Given the description of an element on the screen output the (x, y) to click on. 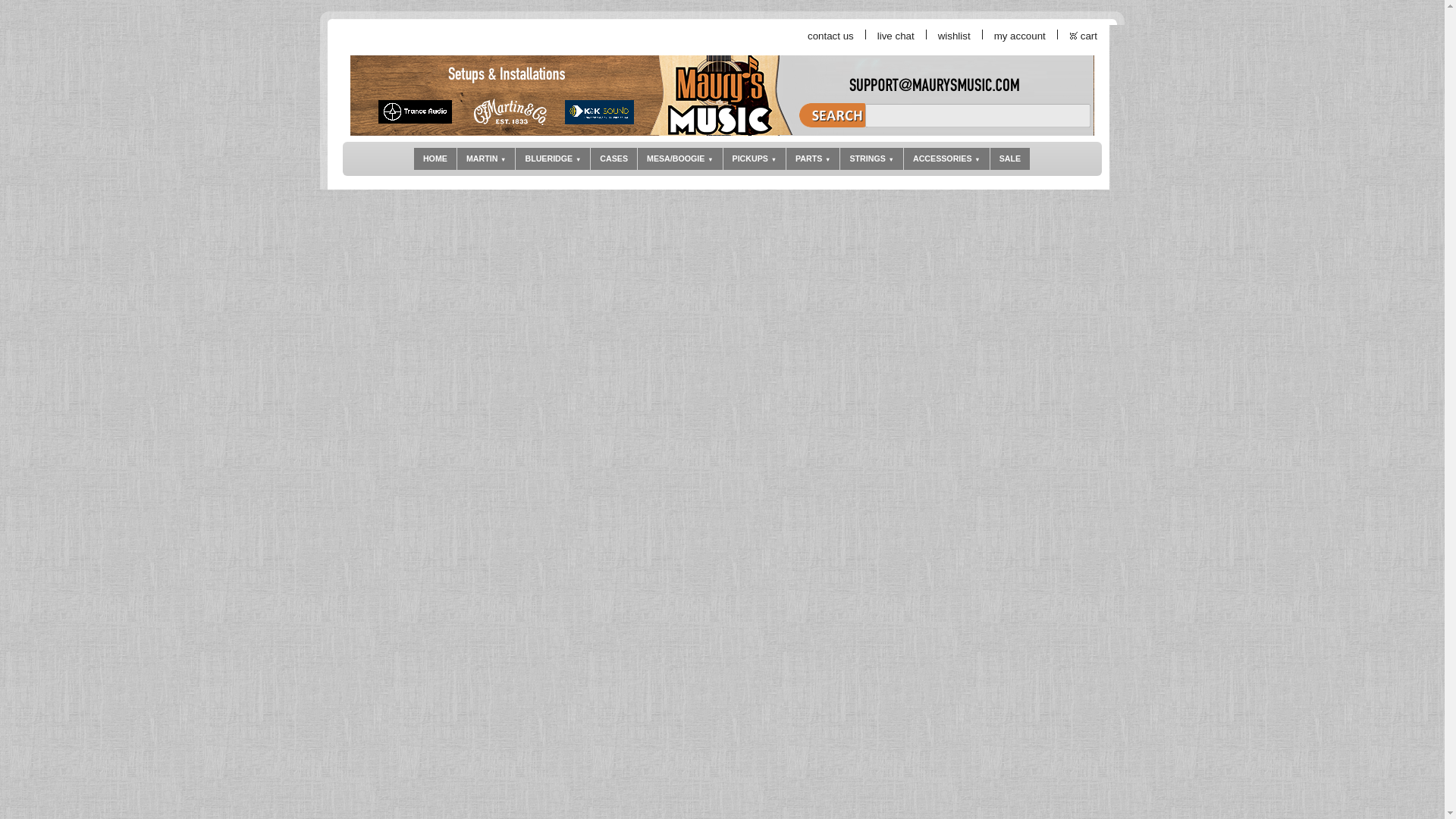
STRINGS (871, 158)
ACCESSORIES (947, 158)
HOME (435, 158)
CASES (614, 158)
live chat (896, 36)
BLUERIDGE (552, 158)
PARTS (813, 158)
my account (1020, 36)
MARTIN (486, 158)
contact us (832, 36)
